Given the description of an element on the screen output the (x, y) to click on. 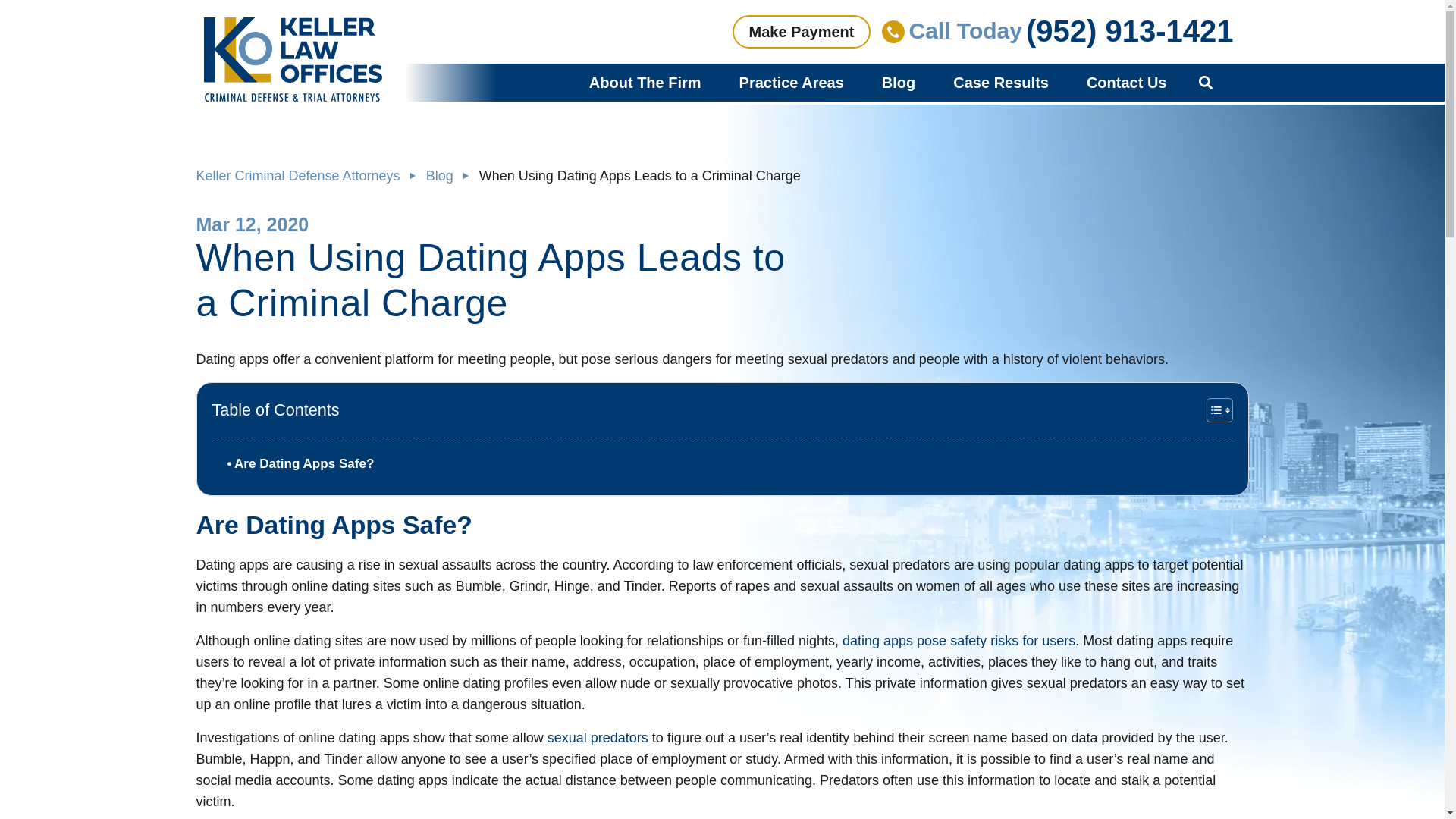
About The Firm (645, 82)
Make Payment (801, 31)
Are Dating Apps Safe? (300, 463)
